Given the description of an element on the screen output the (x, y) to click on. 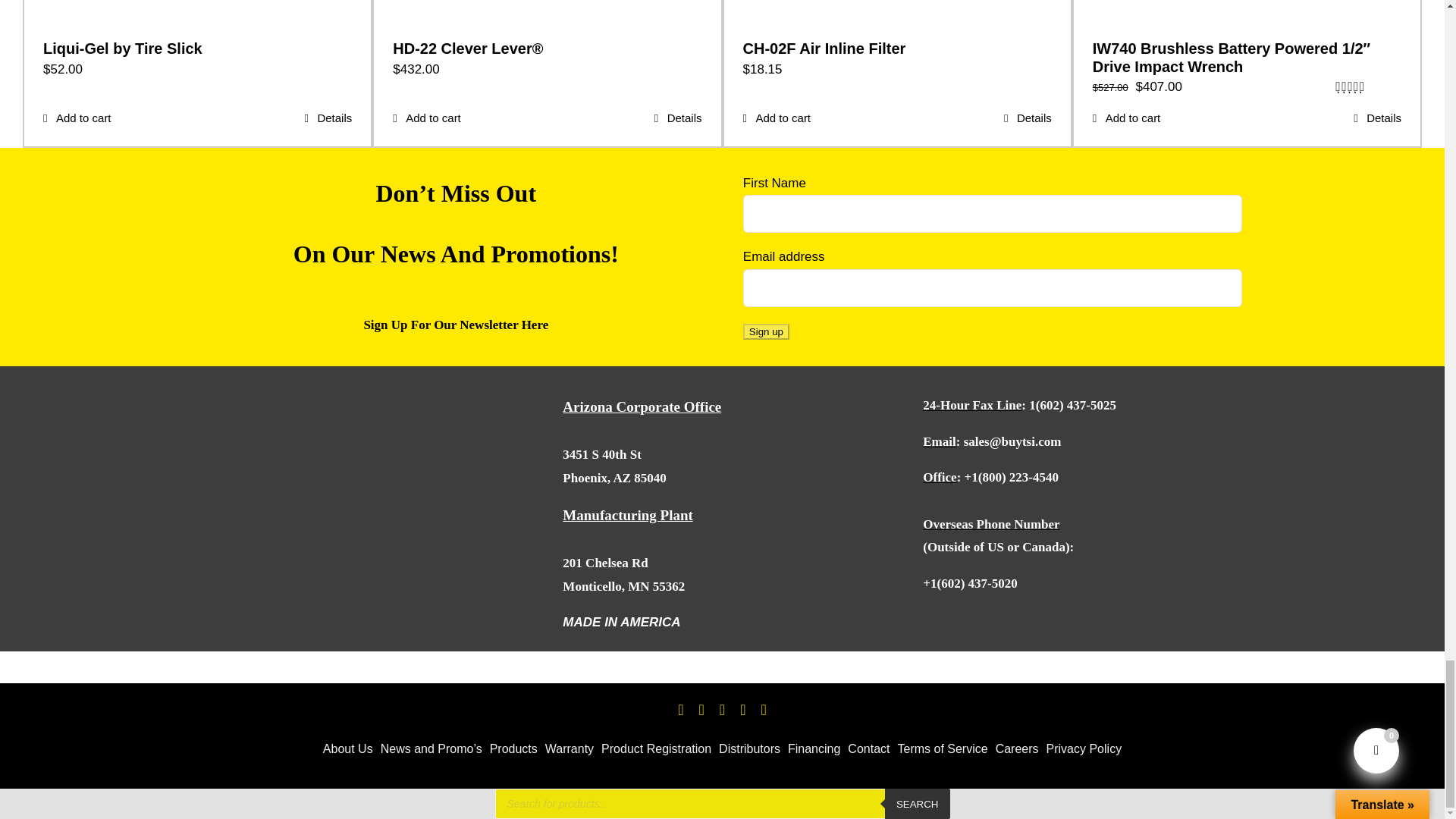
Sign up (765, 331)
footer-logos-USE (1046, 630)
TSI LOGO WHITE, Bright Yellow (315, 462)
